Given the description of an element on the screen output the (x, y) to click on. 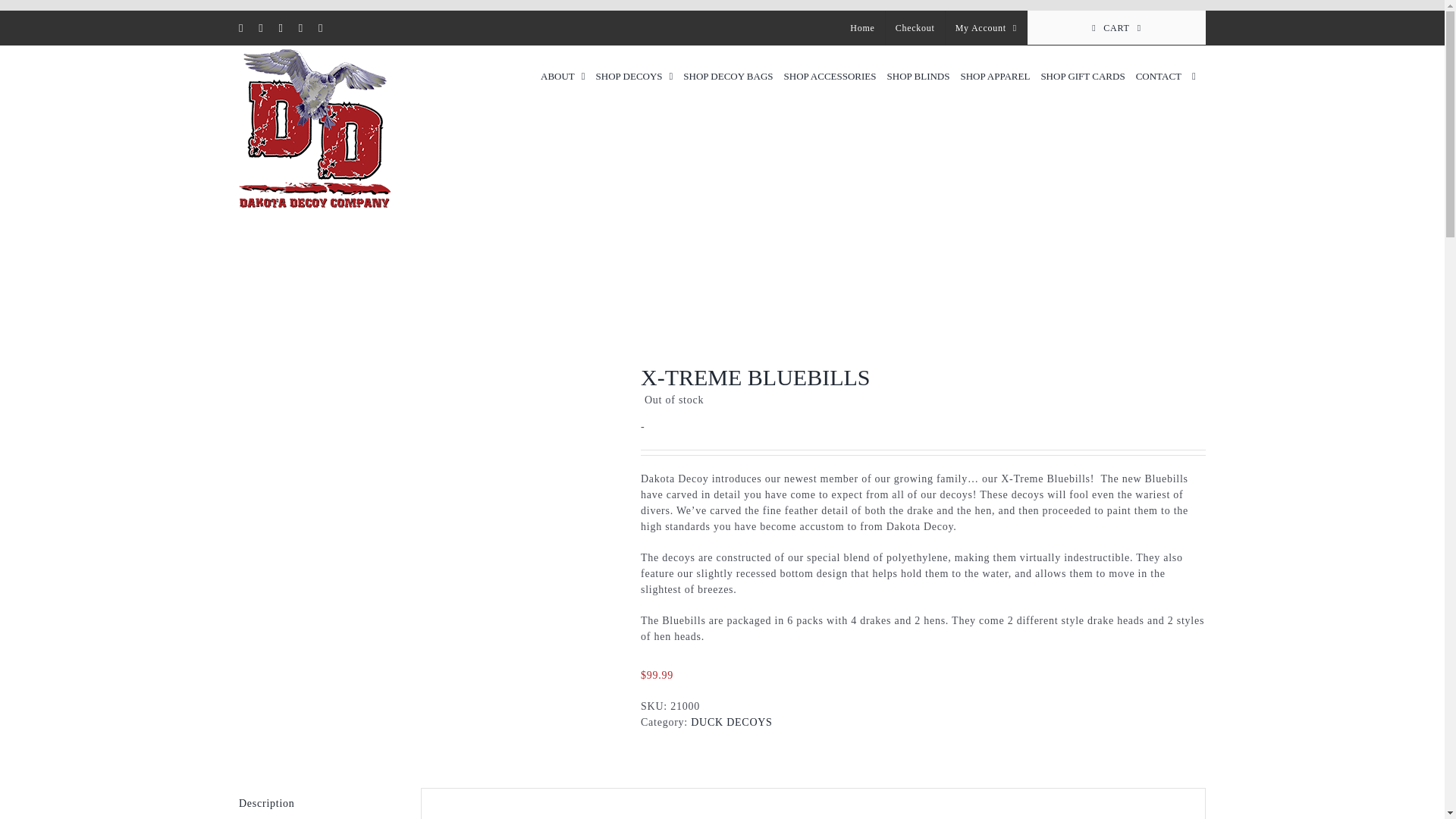
Checkout (914, 27)
SHOP GIFT CARDS (1082, 75)
My Account (985, 27)
CART (1116, 27)
SHOP BLINDS (918, 75)
SHOP APPAREL (994, 75)
SHOP DECOYS (633, 75)
SHOP ACCESSORIES (830, 75)
SHOP DECOY BAGS (727, 75)
Home (861, 27)
